Given the description of an element on the screen output the (x, y) to click on. 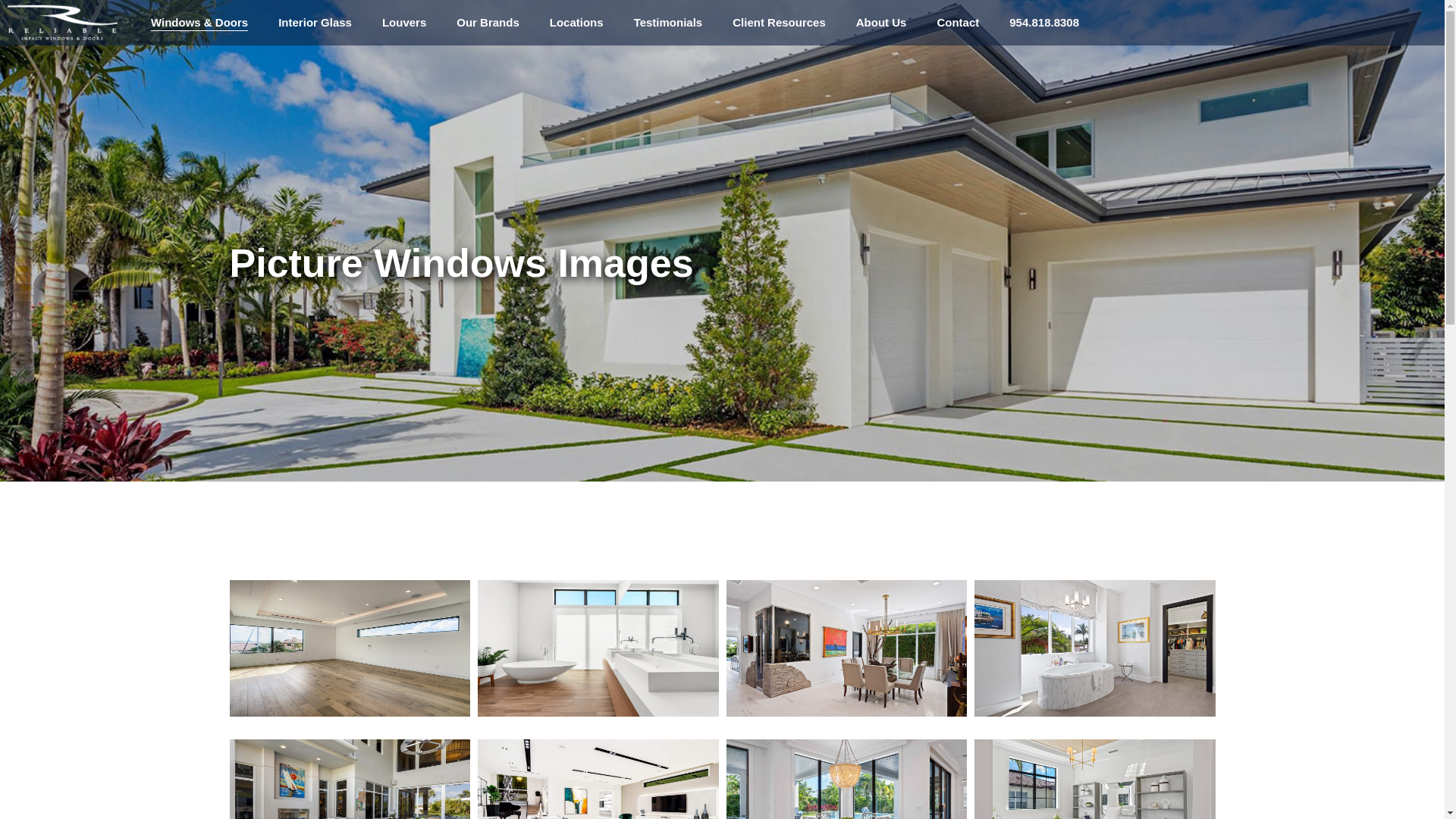
Picture Windows custom glass in South Florida (1095, 779)
Picture Windows custom glass in South Florida (349, 647)
Interior Glass (315, 22)
Picture Windows custom glass in South Florida (349, 779)
Picture Windows custom glass in South Florida (1095, 647)
Our Brands (488, 22)
Picture Windows custom glass in South Florida (846, 647)
Picture Windows custom glass in South Florida (598, 779)
Picture Windows custom glass in South Florida (598, 647)
Louvers (403, 22)
Picture Windows custom glass in South Florida (846, 779)
Locations (577, 22)
